Given the description of an element on the screen output the (x, y) to click on. 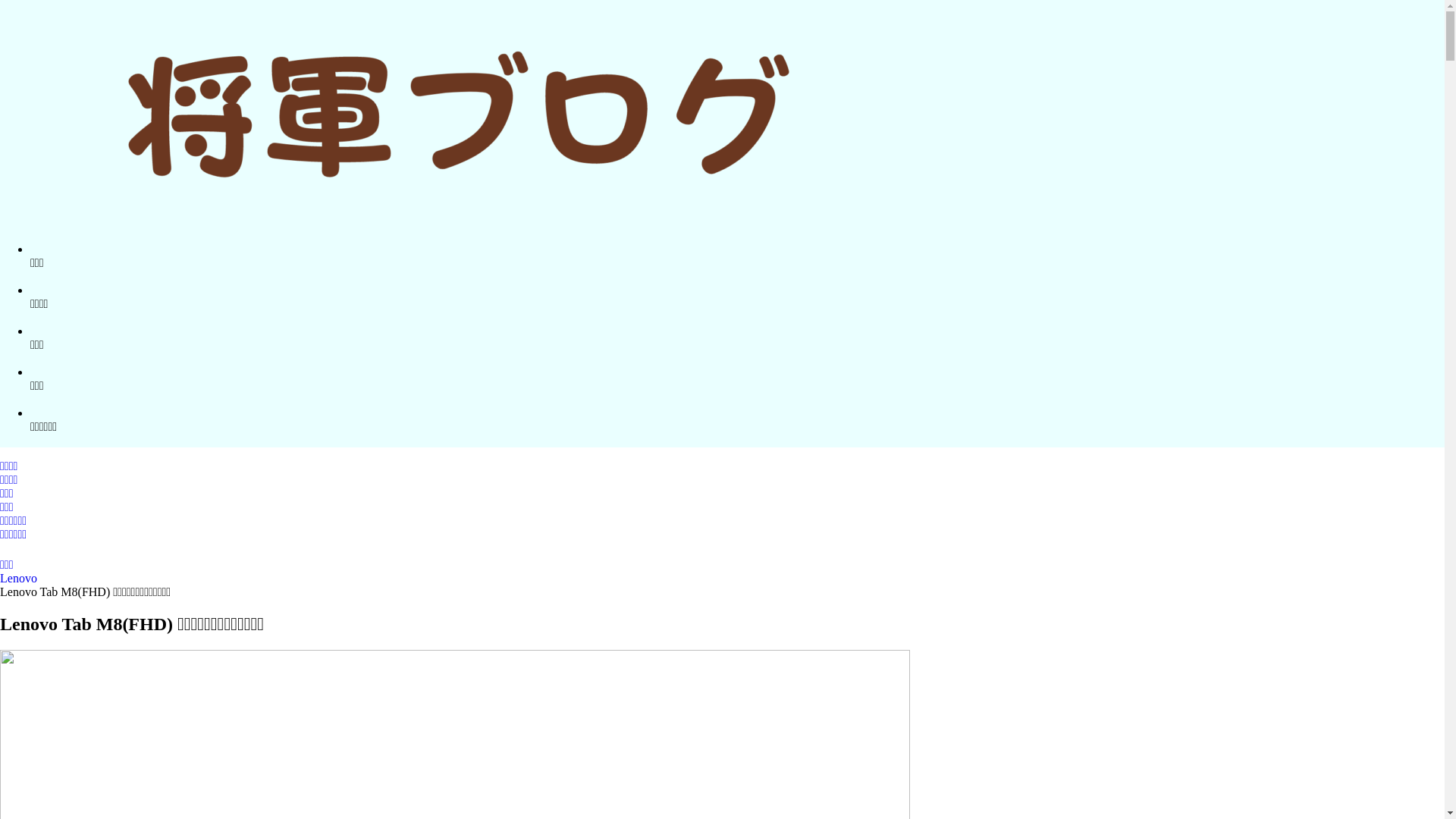
Lenovo Element type: text (18, 577)
